Given the description of an element on the screen output the (x, y) to click on. 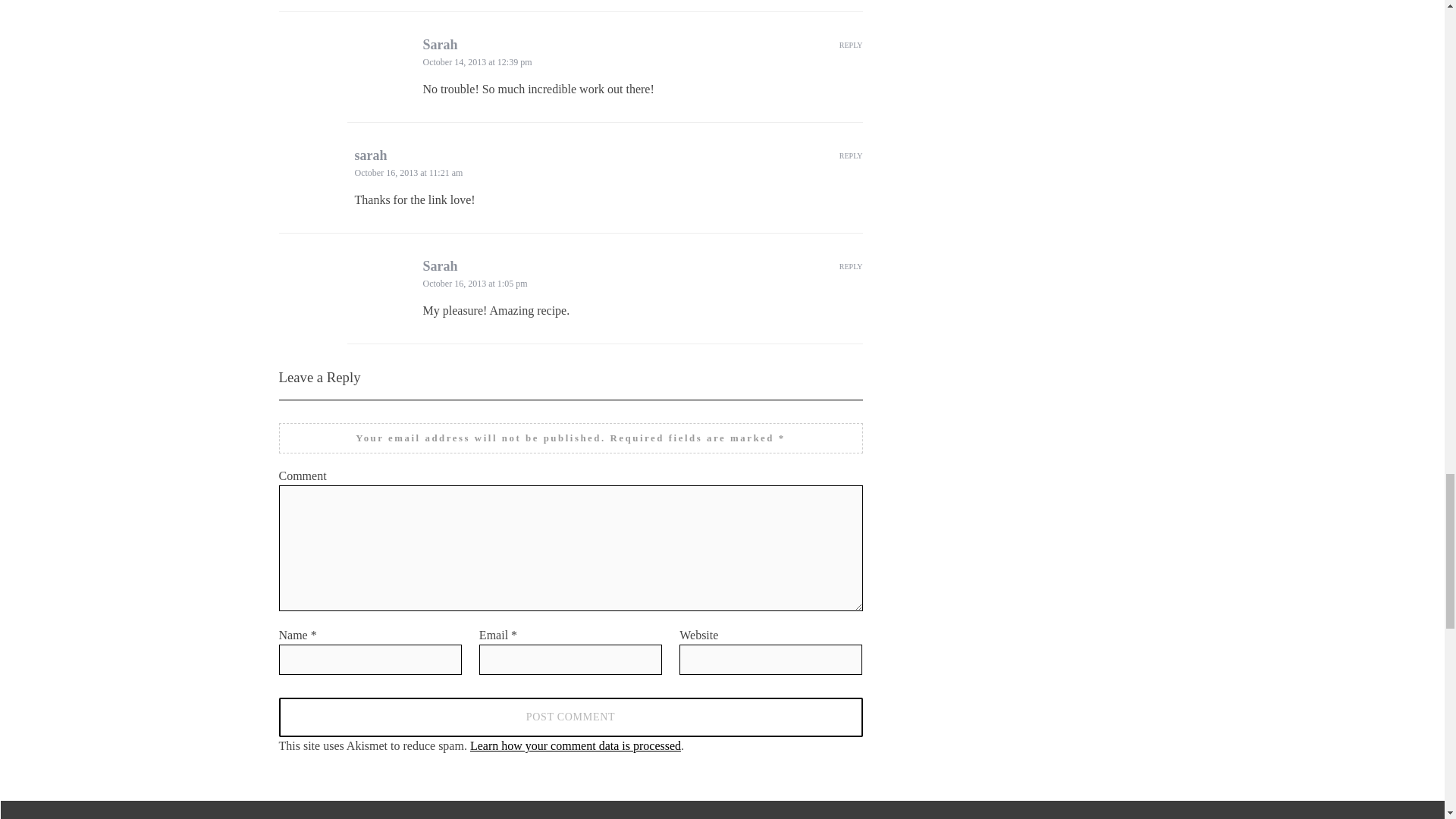
Post Comment (571, 717)
